Given the description of an element on the screen output the (x, y) to click on. 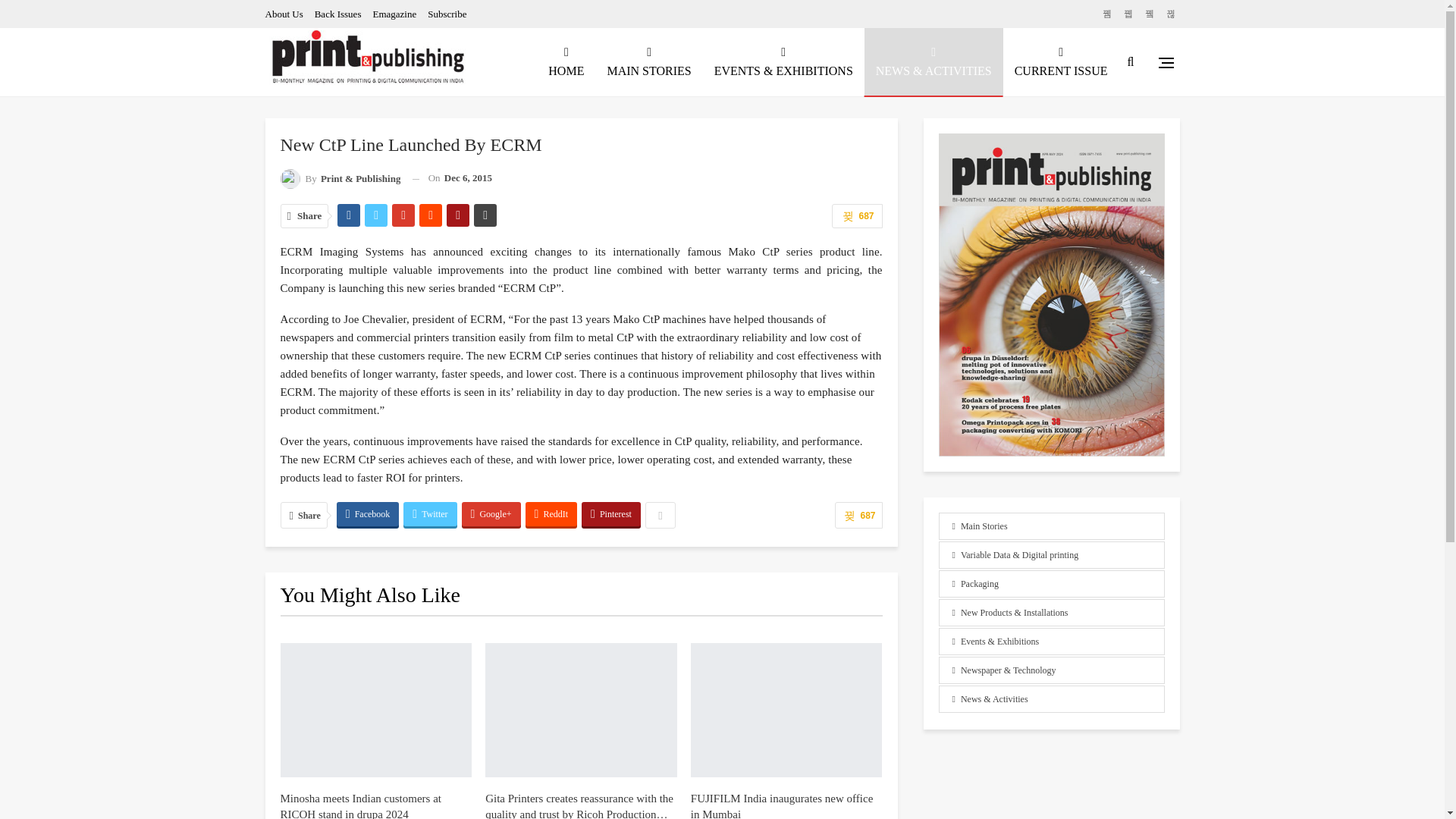
Back Issues (337, 13)
Facebook (367, 514)
MAIN STORIES (648, 61)
ReddIt (551, 514)
Twitter (430, 514)
About Us (283, 13)
Subscribe (446, 13)
CURRENT ISSUE (1061, 61)
Emagazine (394, 13)
FUJIFILM India inaugurates new office in Mumbai (781, 805)
FUJIFILM India inaugurates new office in Mumbai (786, 709)
Minosha meets Indian customers at RICOH stand in drupa 2024 (376, 709)
Browse Author Articles (341, 178)
Minosha meets Indian customers at RICOH stand in drupa 2024 (361, 805)
